Given the description of an element on the screen output the (x, y) to click on. 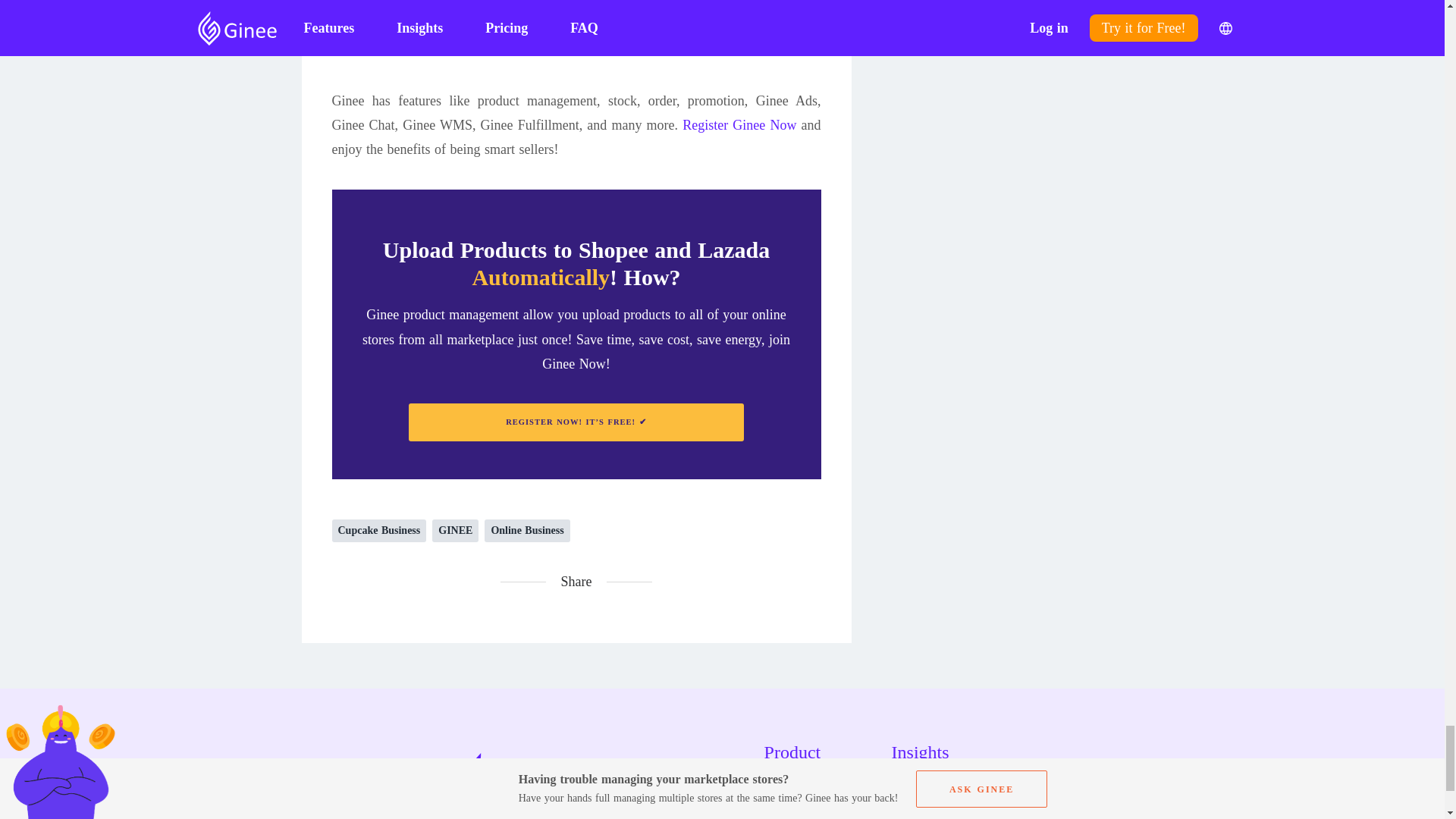
GINEE (455, 530)
Marketplace News (952, 811)
Cupcake Business (378, 530)
All News (952, 783)
Online Business (526, 530)
Ginee Philippines (678, 3)
Register Ginee Now (739, 124)
